Given the description of an element on the screen output the (x, y) to click on. 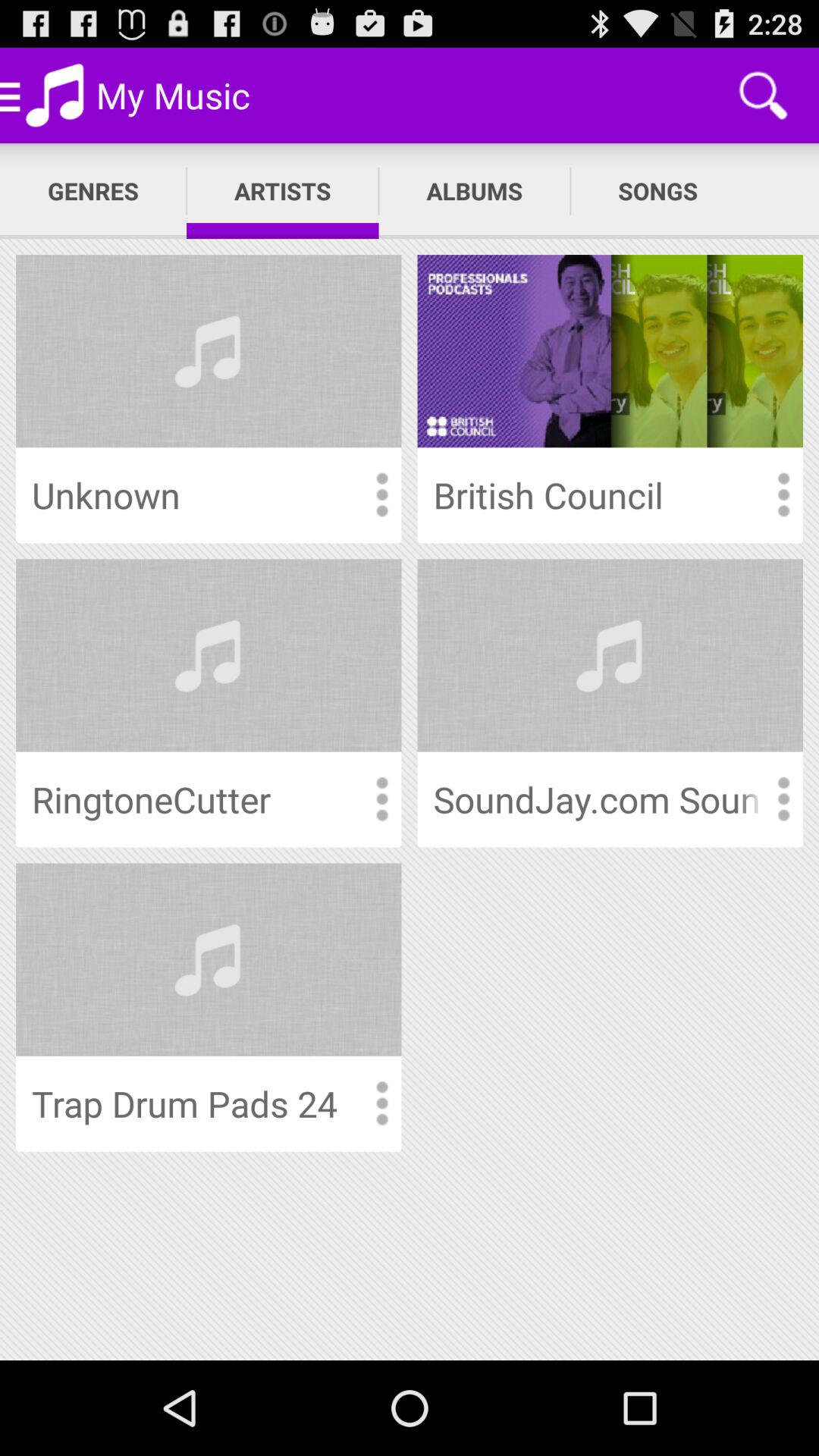
more options (783, 799)
